Given the description of an element on the screen output the (x, y) to click on. 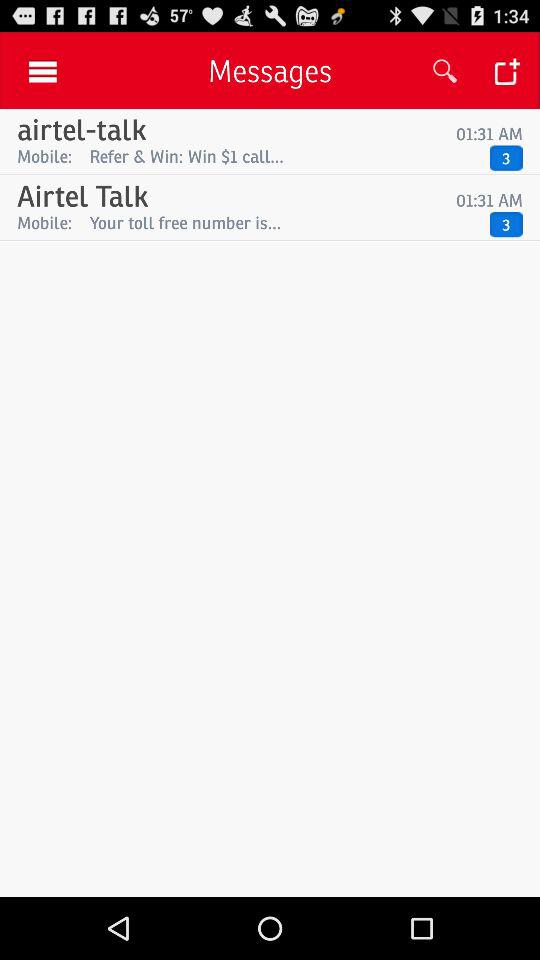
launch item next to 3 item (284, 222)
